Given the description of an element on the screen output the (x, y) to click on. 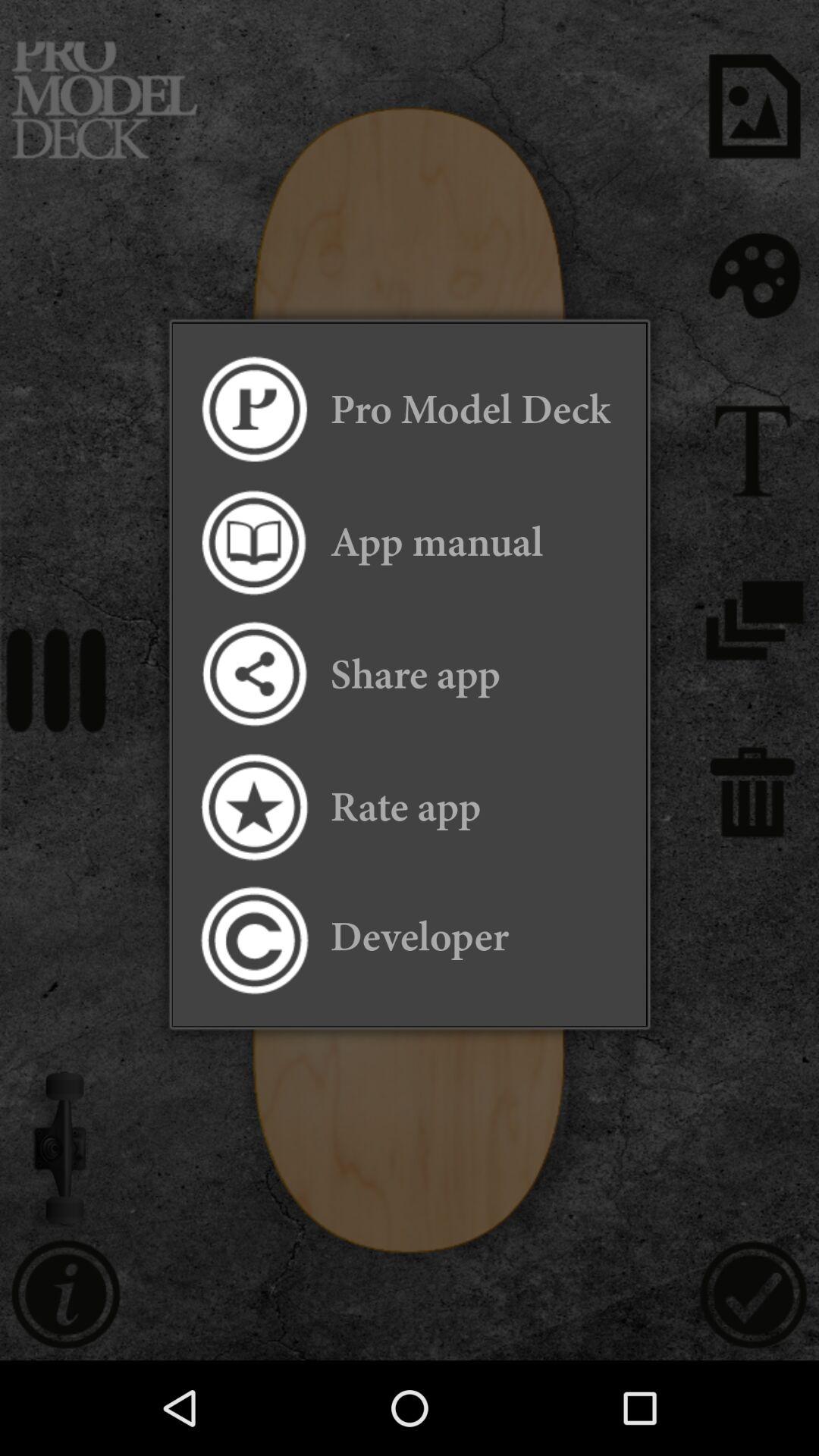
press item next to app manual (253, 542)
